Given the description of an element on the screen output the (x, y) to click on. 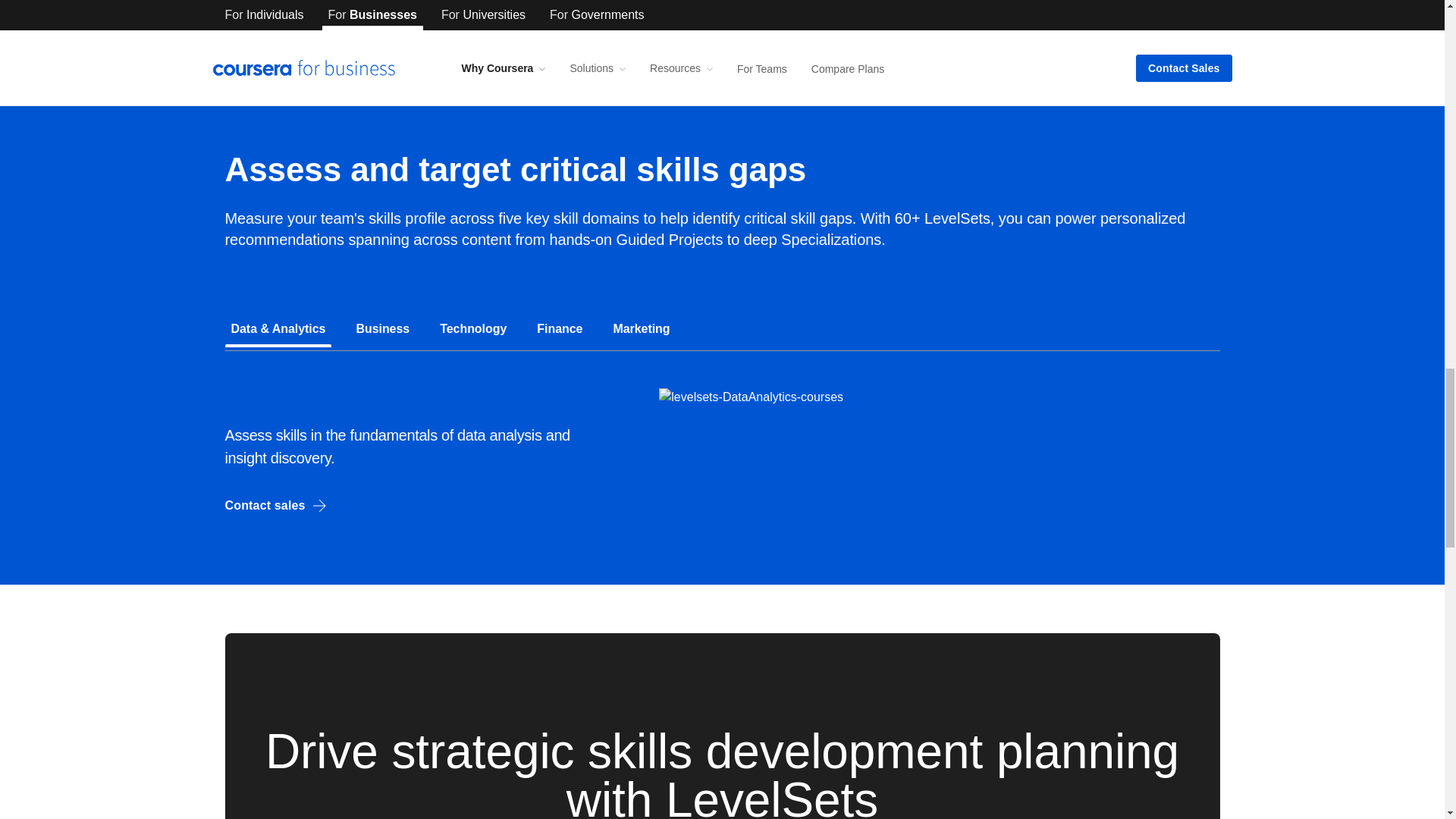
Finance (559, 329)
Marketing (641, 329)
Business (381, 329)
Explore Skills Dashboard (855, 14)
Contact sales (280, 505)
Technology (472, 329)
